Given the description of an element on the screen output the (x, y) to click on. 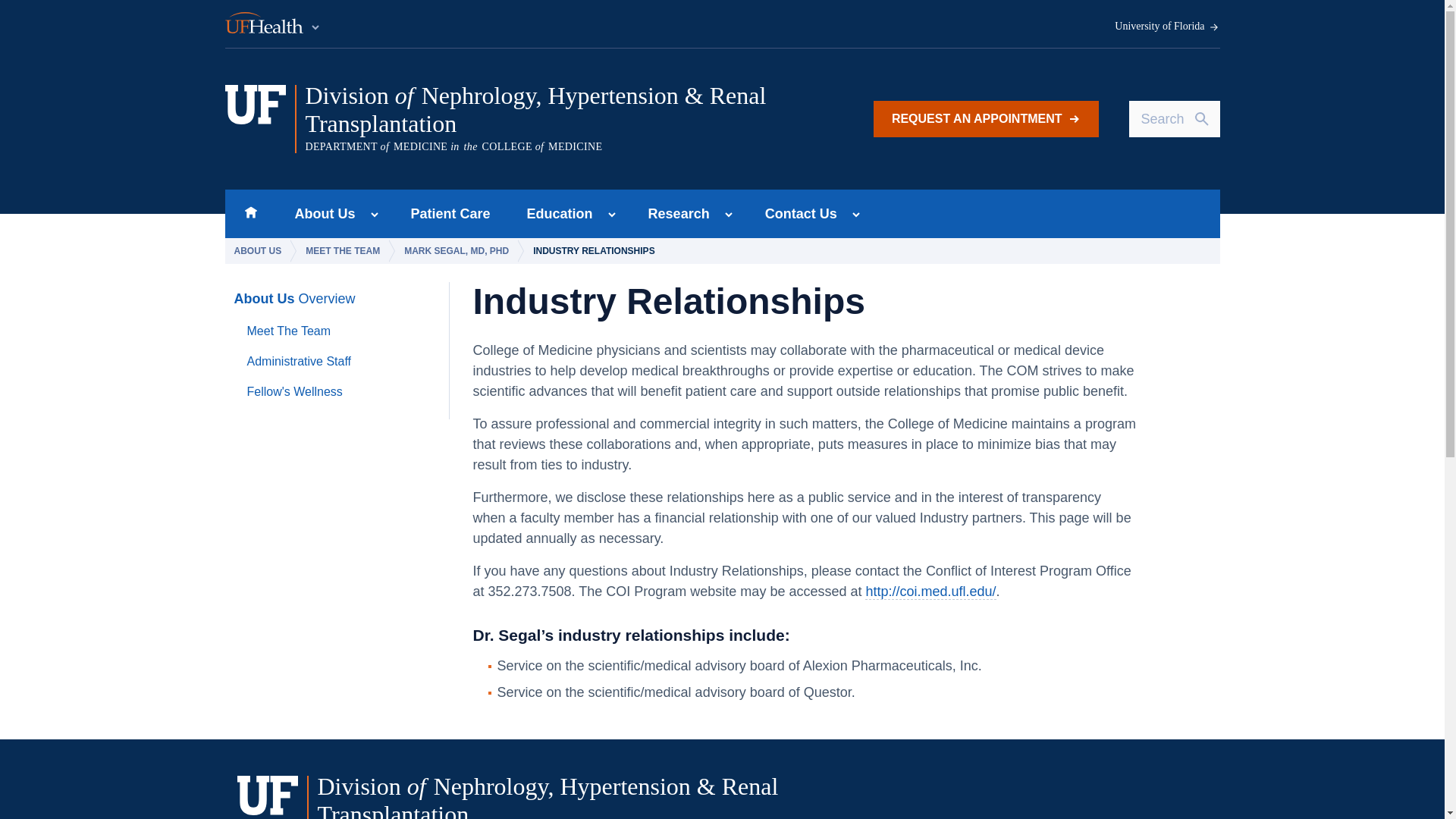
About Us (320, 213)
REQUEST AN APPOINTMENT (986, 118)
University of Florida (1167, 26)
UF Health (272, 24)
Research (674, 213)
Contact Us (795, 213)
Patient Care (450, 213)
